Given the description of an element on the screen output the (x, y) to click on. 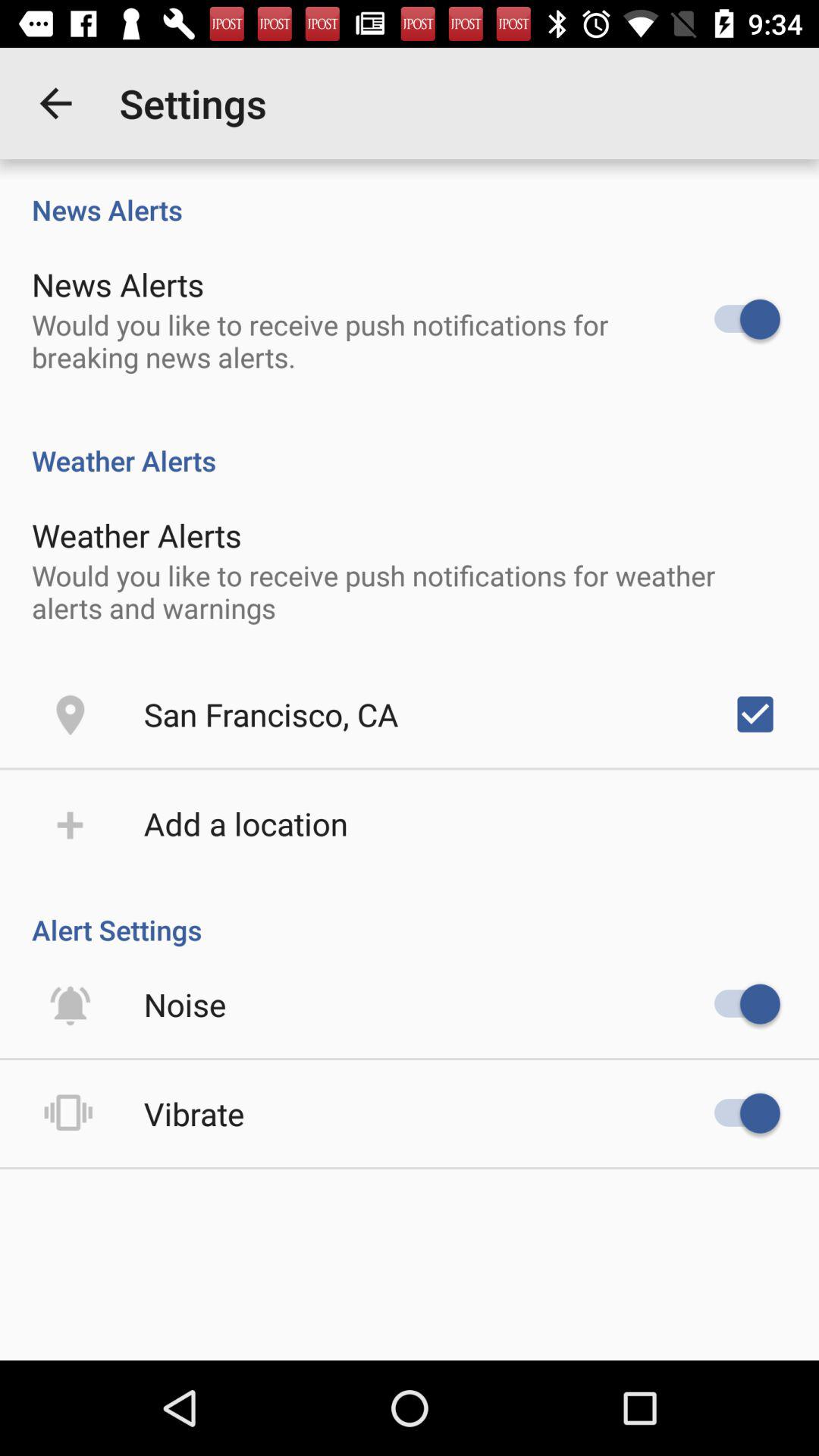
select the item below the would you like (270, 713)
